Given the description of an element on the screen output the (x, y) to click on. 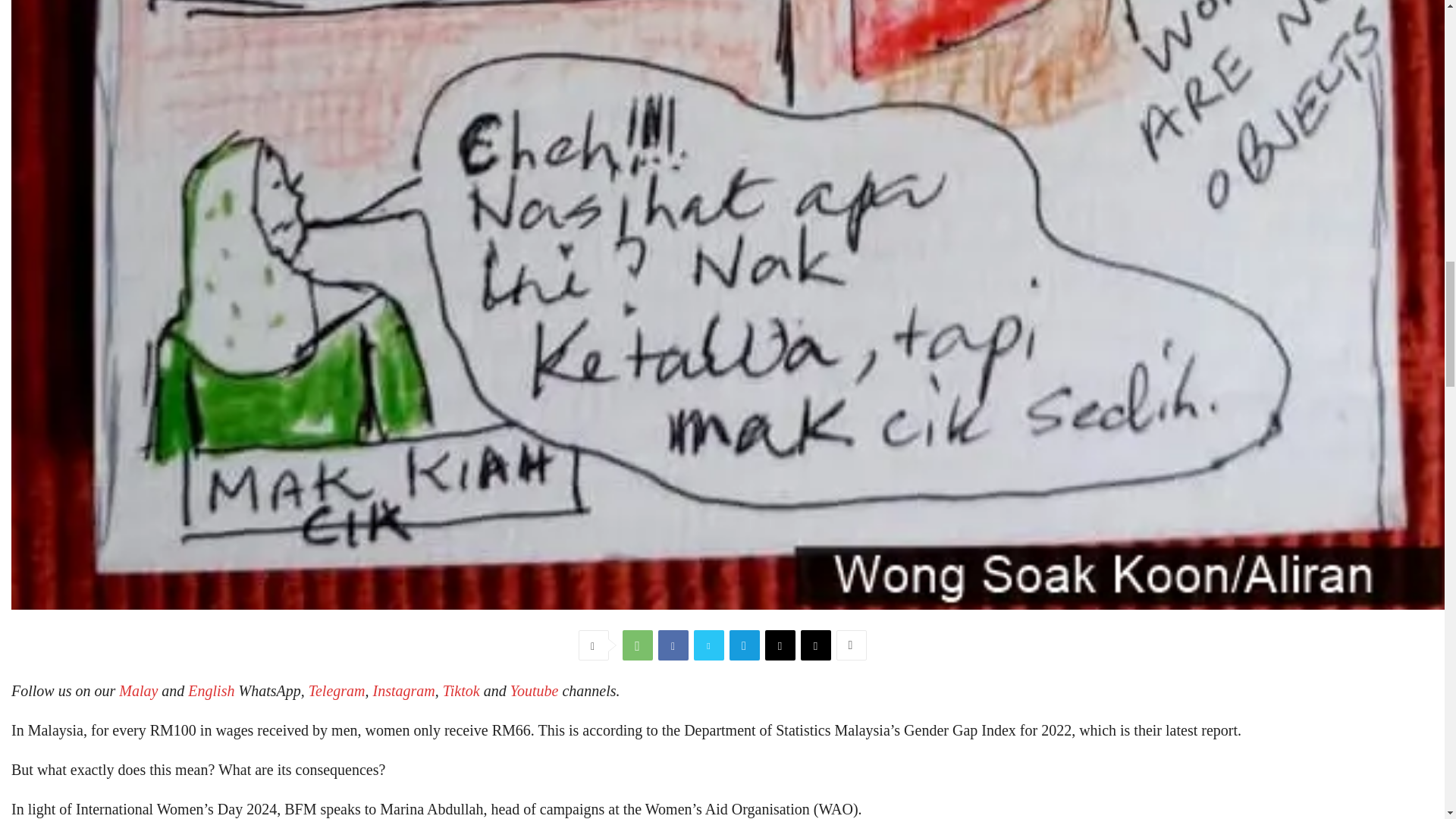
WhatsApp (636, 644)
English (210, 690)
Malay (138, 690)
